Given the description of an element on the screen output the (x, y) to click on. 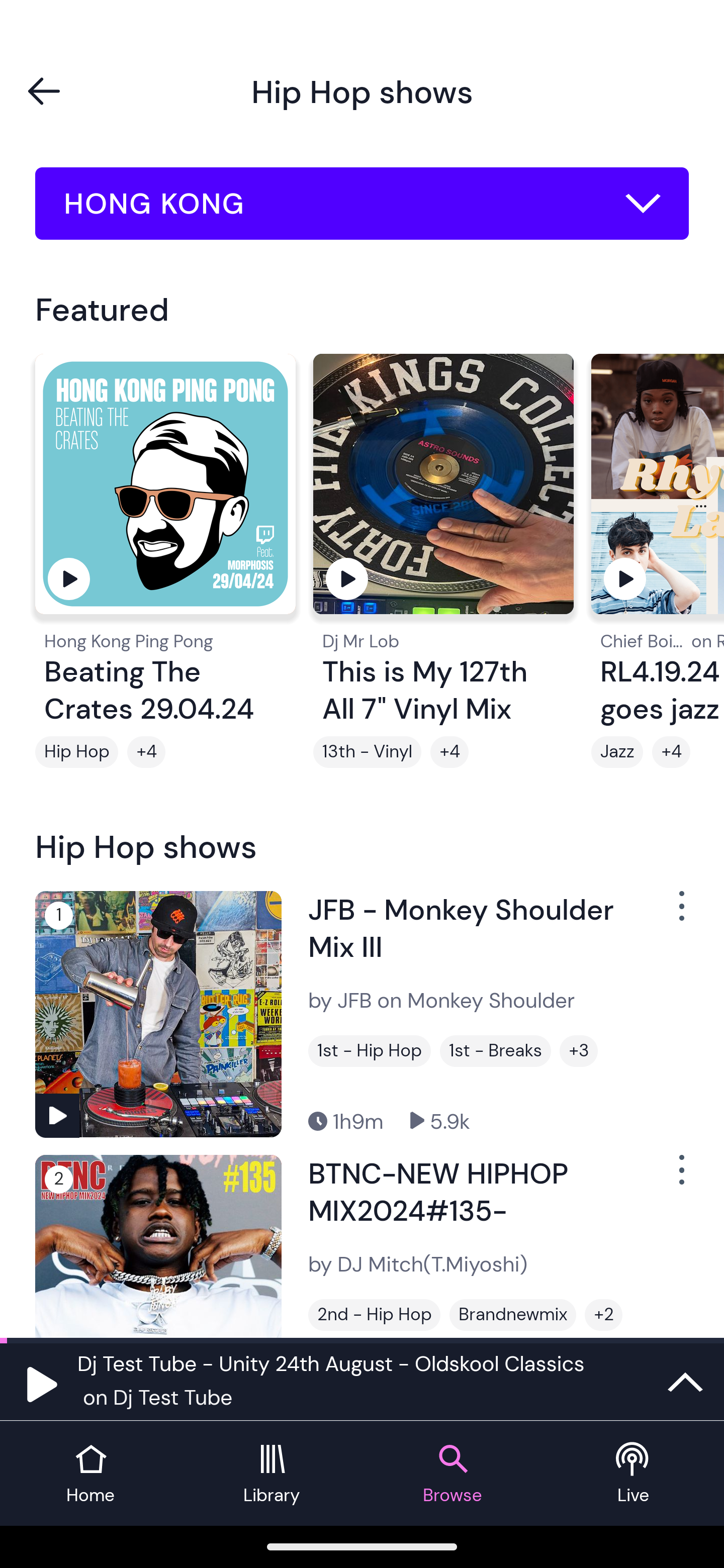
HONG KONG (361, 203)
Hip Hop (76, 752)
13th - Vinyl (367, 752)
Jazz (616, 752)
Show Options Menu Button (679, 913)
1st - Hip Hop (369, 1050)
1st - Breaks (495, 1050)
Show Options Menu Button (679, 1178)
2nd - Hip Hop (374, 1315)
Brandnewmix (512, 1315)
Home tab Home (90, 1473)
Library tab Library (271, 1473)
Browse tab Browse (452, 1473)
Live tab Live (633, 1473)
